Given the description of an element on the screen output the (x, y) to click on. 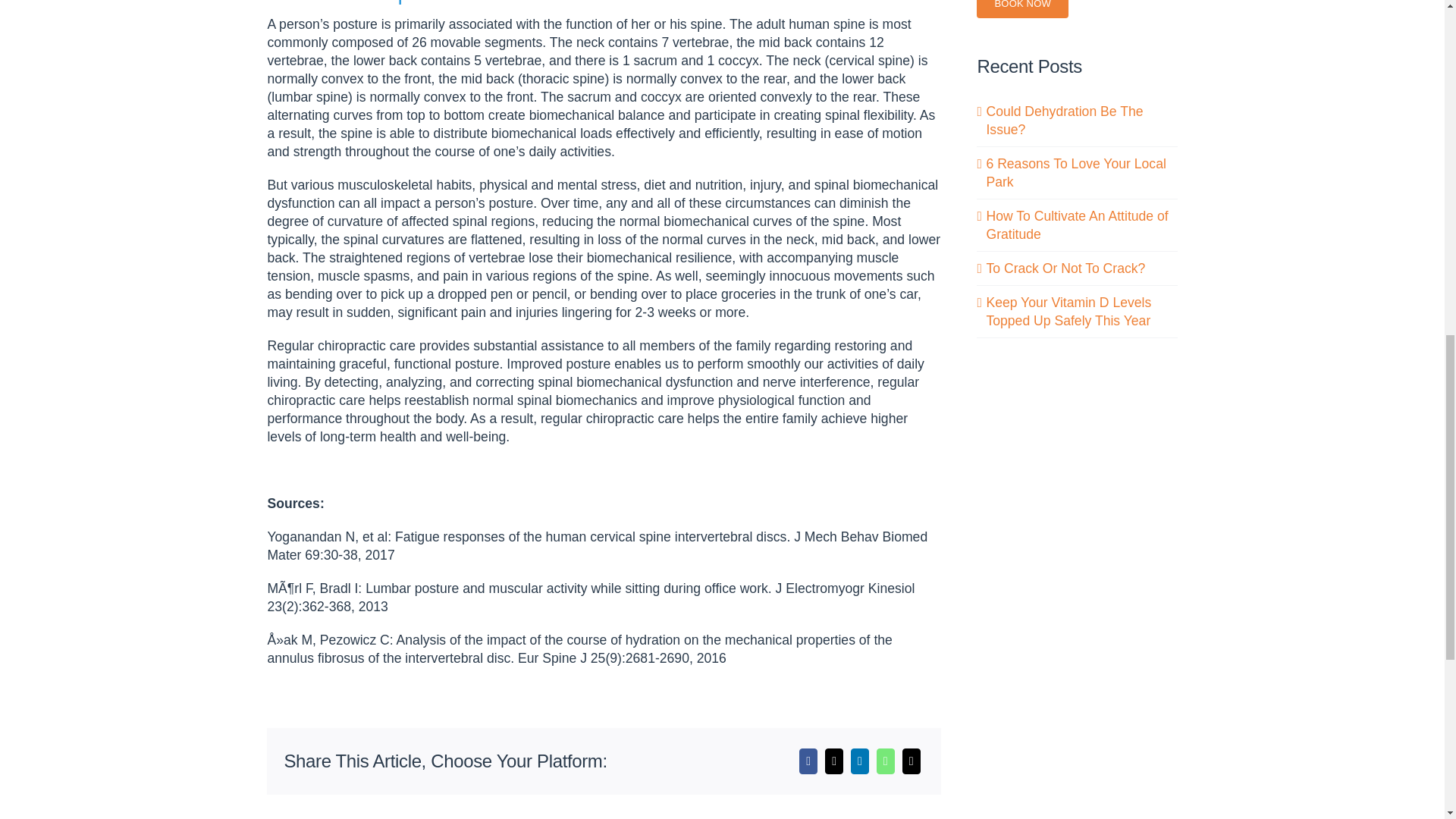
How To Cultivate An Attitude of Gratitude (1076, 224)
6 Reasons To Love Your Local Park (1075, 172)
Keep Your Vitamin D Levels Topped Up Safely This Year (1068, 311)
Could Dehydration Be The Issue? (1063, 120)
BOOK NOW (1022, 9)
To Crack Or Not To Crack? (1064, 268)
